Given the description of an element on the screen output the (x, y) to click on. 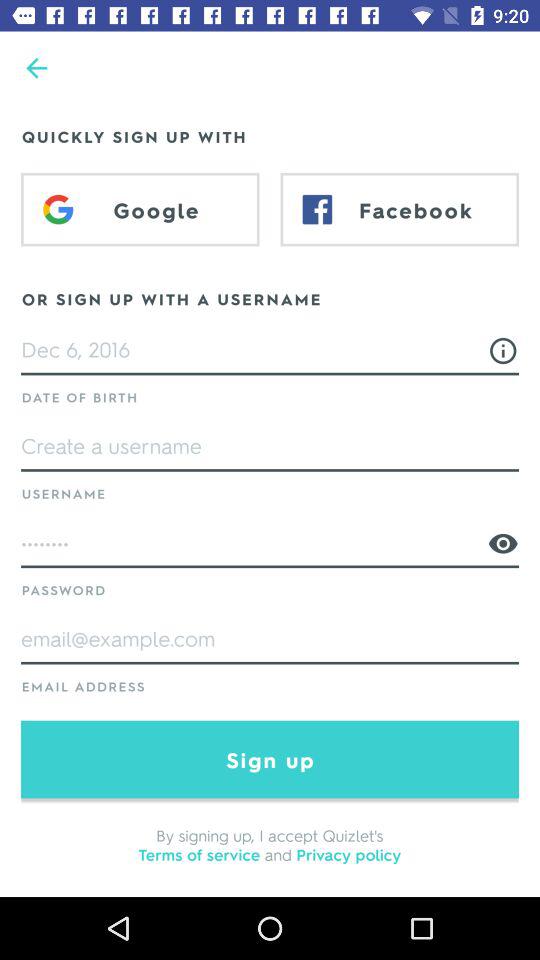
flip until the facebook icon (399, 209)
